Given the description of an element on the screen output the (x, y) to click on. 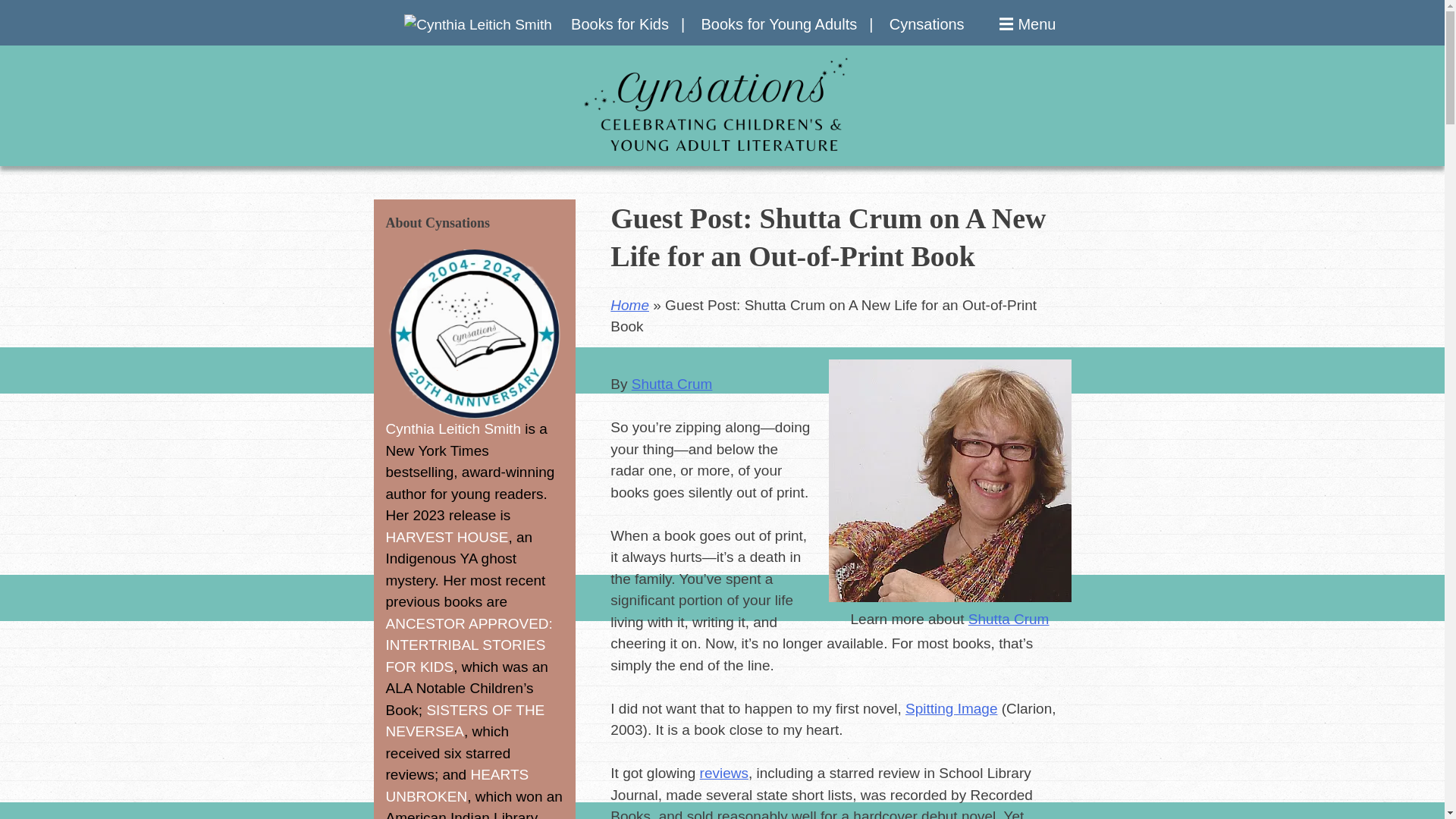
reviews (724, 772)
Spitting Image (951, 708)
Books for Kids (627, 24)
Cynsations (926, 24)
Home (629, 304)
Shutta Crum (1008, 618)
Shutta Crum (672, 383)
Books for Young Adults (786, 24)
